Given the description of an element on the screen output the (x, y) to click on. 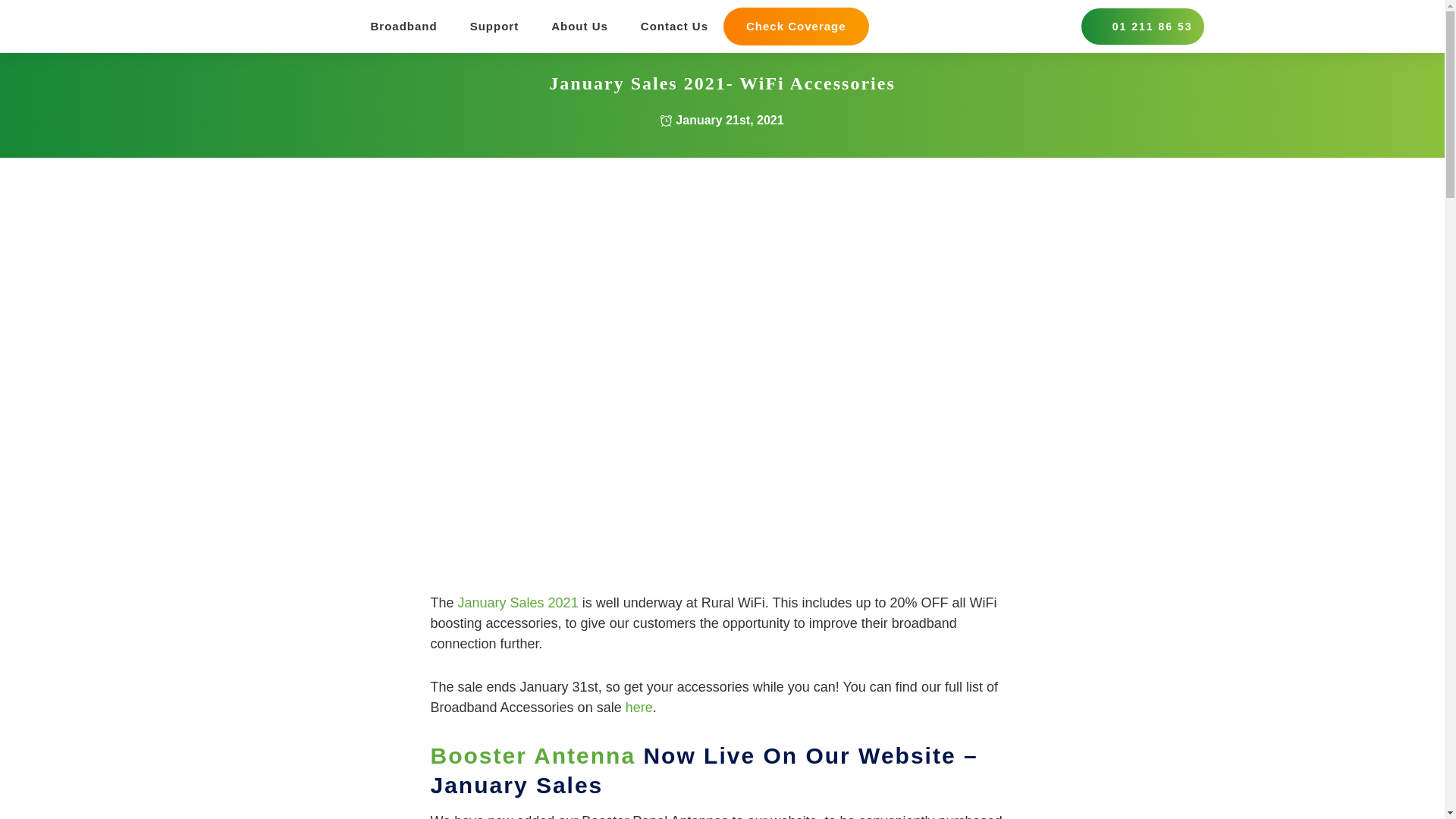
Booster Antenna (533, 755)
Check Coverage (796, 26)
01 211 86 53 (1142, 26)
Support (494, 26)
Contact Us (673, 26)
About Us (579, 26)
January Sales 2021 (518, 602)
here (639, 707)
Broadband (402, 26)
